Given the description of an element on the screen output the (x, y) to click on. 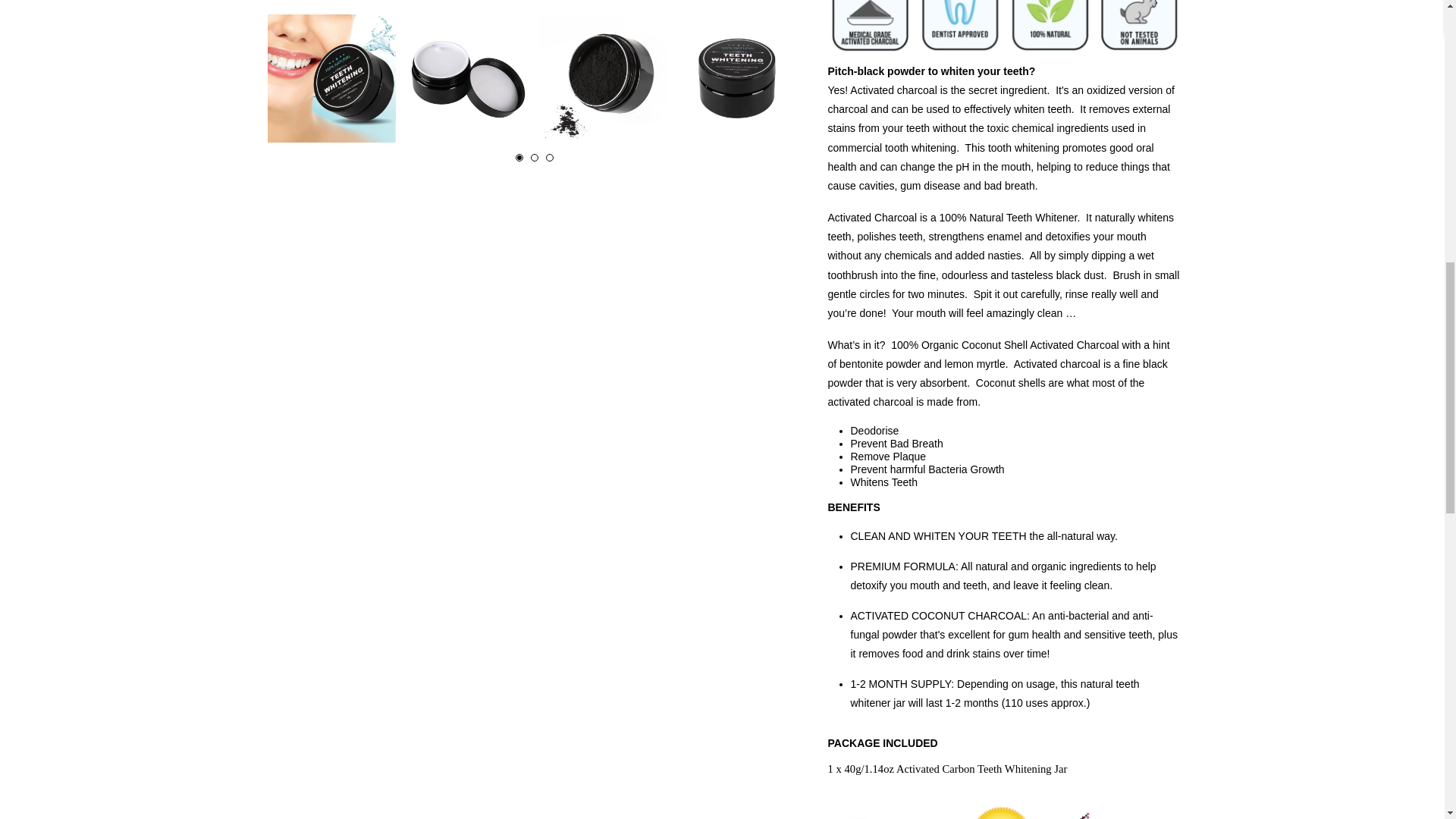
Activated Charcoal Whitening Powder (330, 78)
Activated Charcoal Whitening Powder (467, 78)
Activated Charcoal Whitening Powder (739, 78)
Activated Charcoal Whitening Powder (602, 78)
